Given the description of an element on the screen output the (x, y) to click on. 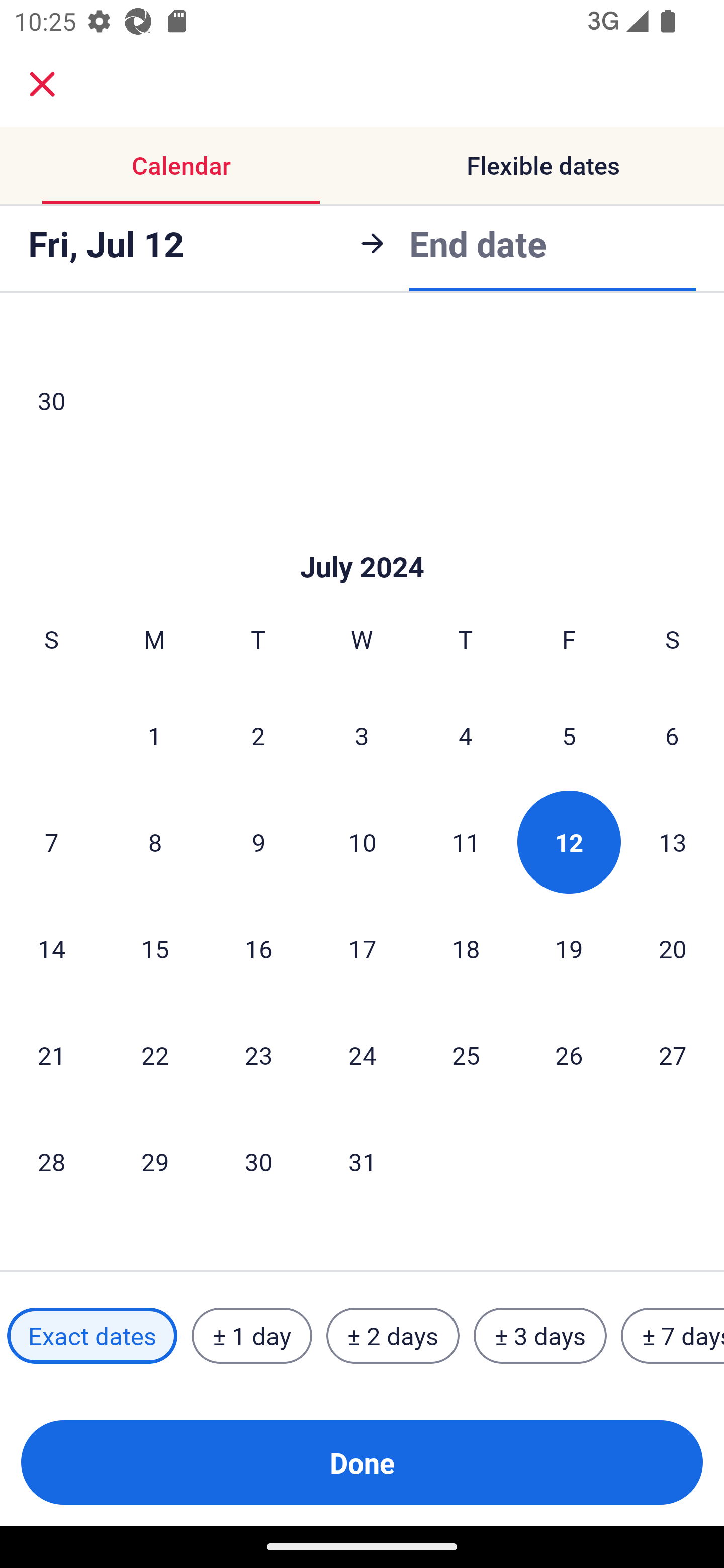
close. (42, 84)
Flexible dates (542, 164)
End date (477, 240)
30 Sunday, June 30, 2024 (51, 399)
Skip to Done (362, 537)
1 Monday, July 1, 2024 (154, 735)
2 Tuesday, July 2, 2024 (257, 735)
3 Wednesday, July 3, 2024 (361, 735)
4 Thursday, July 4, 2024 (465, 735)
5 Friday, July 5, 2024 (568, 735)
6 Saturday, July 6, 2024 (672, 735)
7 Sunday, July 7, 2024 (51, 841)
8 Monday, July 8, 2024 (155, 841)
9 Tuesday, July 9, 2024 (258, 841)
10 Wednesday, July 10, 2024 (362, 841)
11 Thursday, July 11, 2024 (465, 841)
13 Saturday, July 13, 2024 (672, 841)
14 Sunday, July 14, 2024 (51, 948)
15 Monday, July 15, 2024 (155, 948)
16 Tuesday, July 16, 2024 (258, 948)
17 Wednesday, July 17, 2024 (362, 948)
18 Thursday, July 18, 2024 (465, 948)
19 Friday, July 19, 2024 (569, 948)
20 Saturday, July 20, 2024 (672, 948)
21 Sunday, July 21, 2024 (51, 1055)
22 Monday, July 22, 2024 (155, 1055)
23 Tuesday, July 23, 2024 (258, 1055)
24 Wednesday, July 24, 2024 (362, 1055)
25 Thursday, July 25, 2024 (465, 1055)
26 Friday, July 26, 2024 (569, 1055)
27 Saturday, July 27, 2024 (672, 1055)
28 Sunday, July 28, 2024 (51, 1161)
29 Monday, July 29, 2024 (155, 1161)
30 Tuesday, July 30, 2024 (258, 1161)
31 Wednesday, July 31, 2024 (362, 1161)
Exact dates (92, 1335)
± 1 day (251, 1335)
± 2 days (392, 1335)
± 3 days (539, 1335)
± 7 days (672, 1335)
Done (361, 1462)
